Given the description of an element on the screen output the (x, y) to click on. 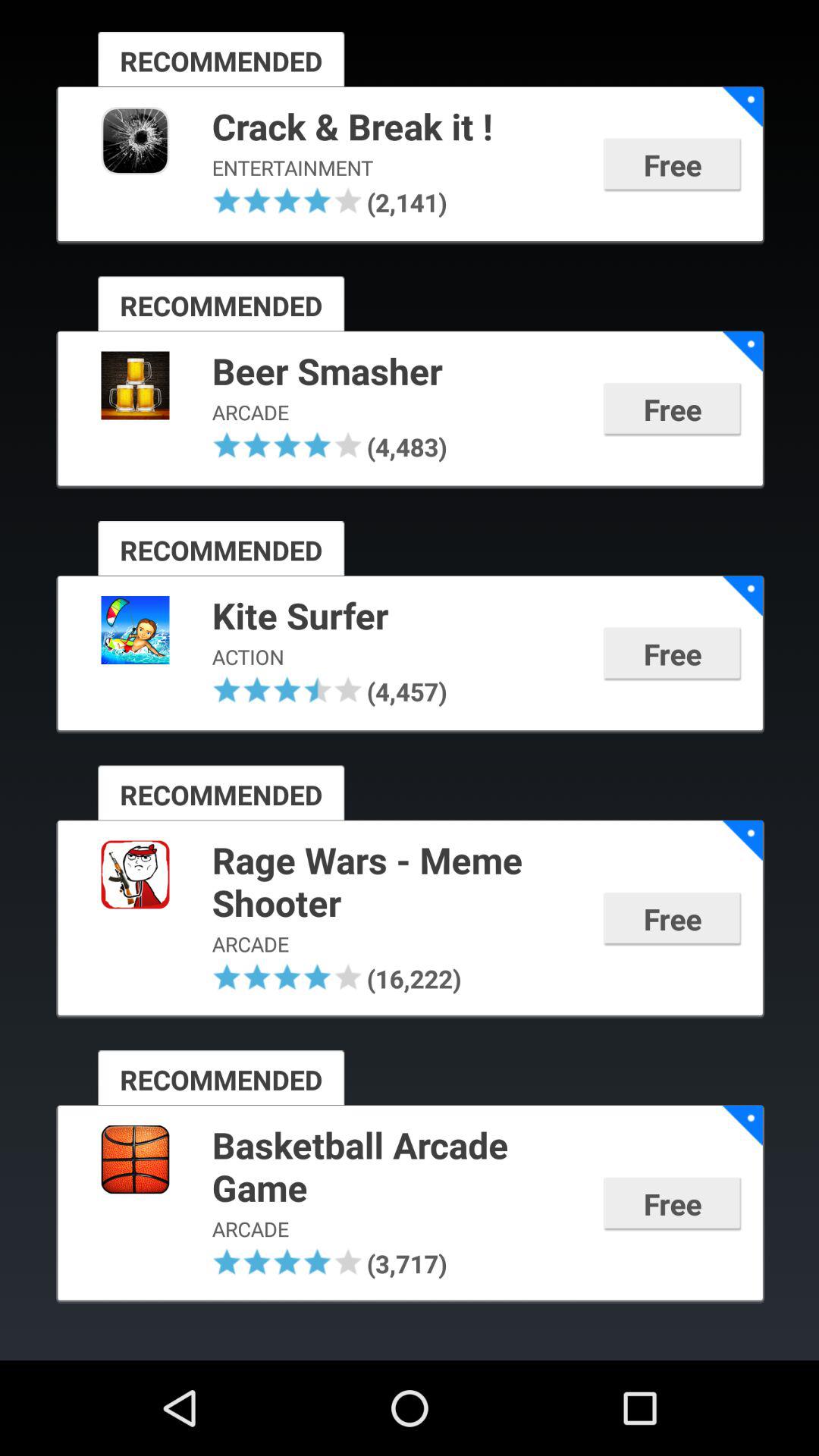
select app to the right of kite surfer (742, 595)
